Given the description of an element on the screen output the (x, y) to click on. 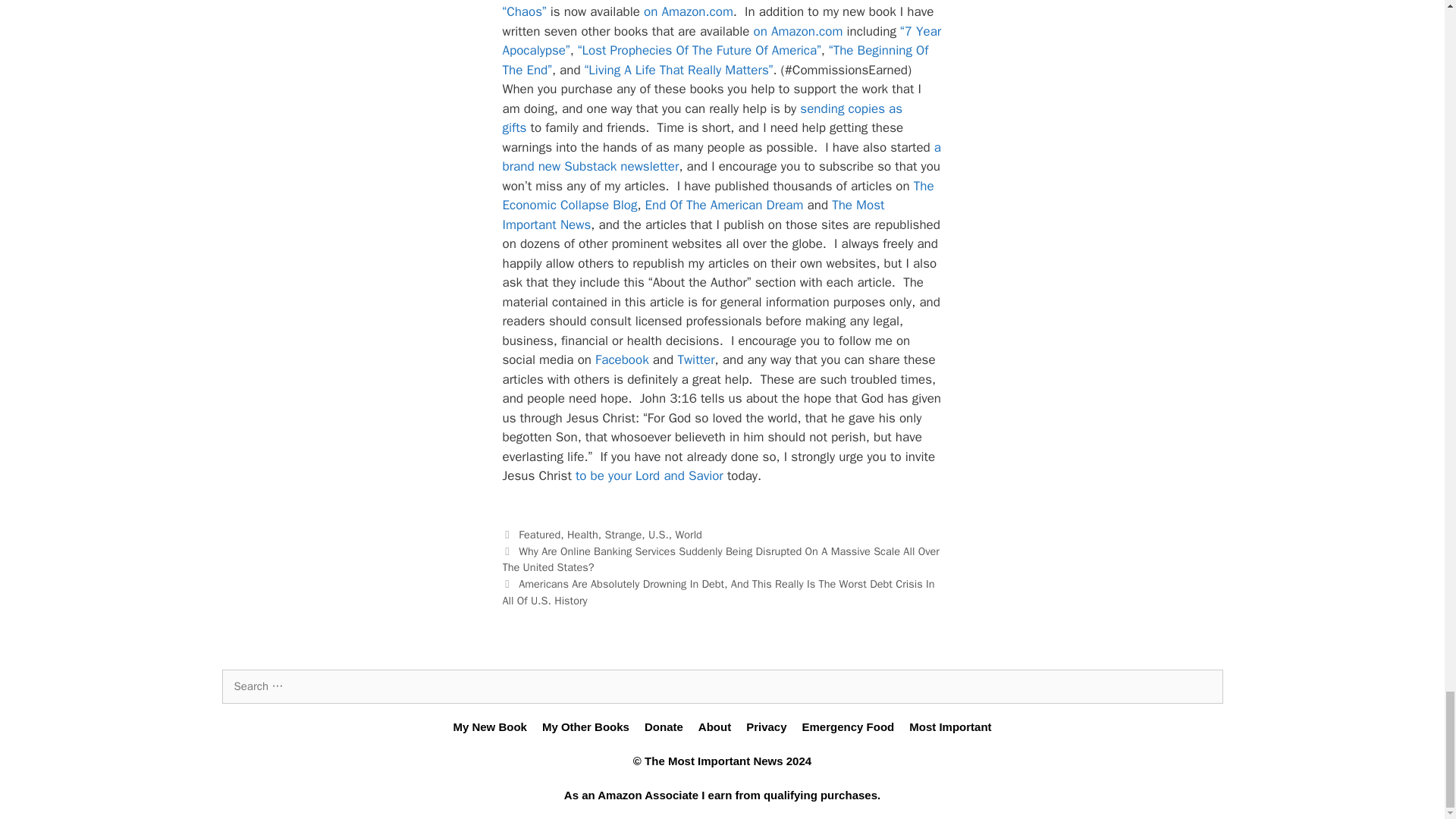
Facebook (622, 359)
Strange (623, 534)
a brand new Substack newsletter (721, 157)
U.S. (657, 534)
Twitter (695, 359)
to be your Lord and Savior (649, 475)
End Of The American Dream (724, 204)
World (688, 534)
on Amazon.com (688, 11)
Health (582, 534)
